Given the description of an element on the screen output the (x, y) to click on. 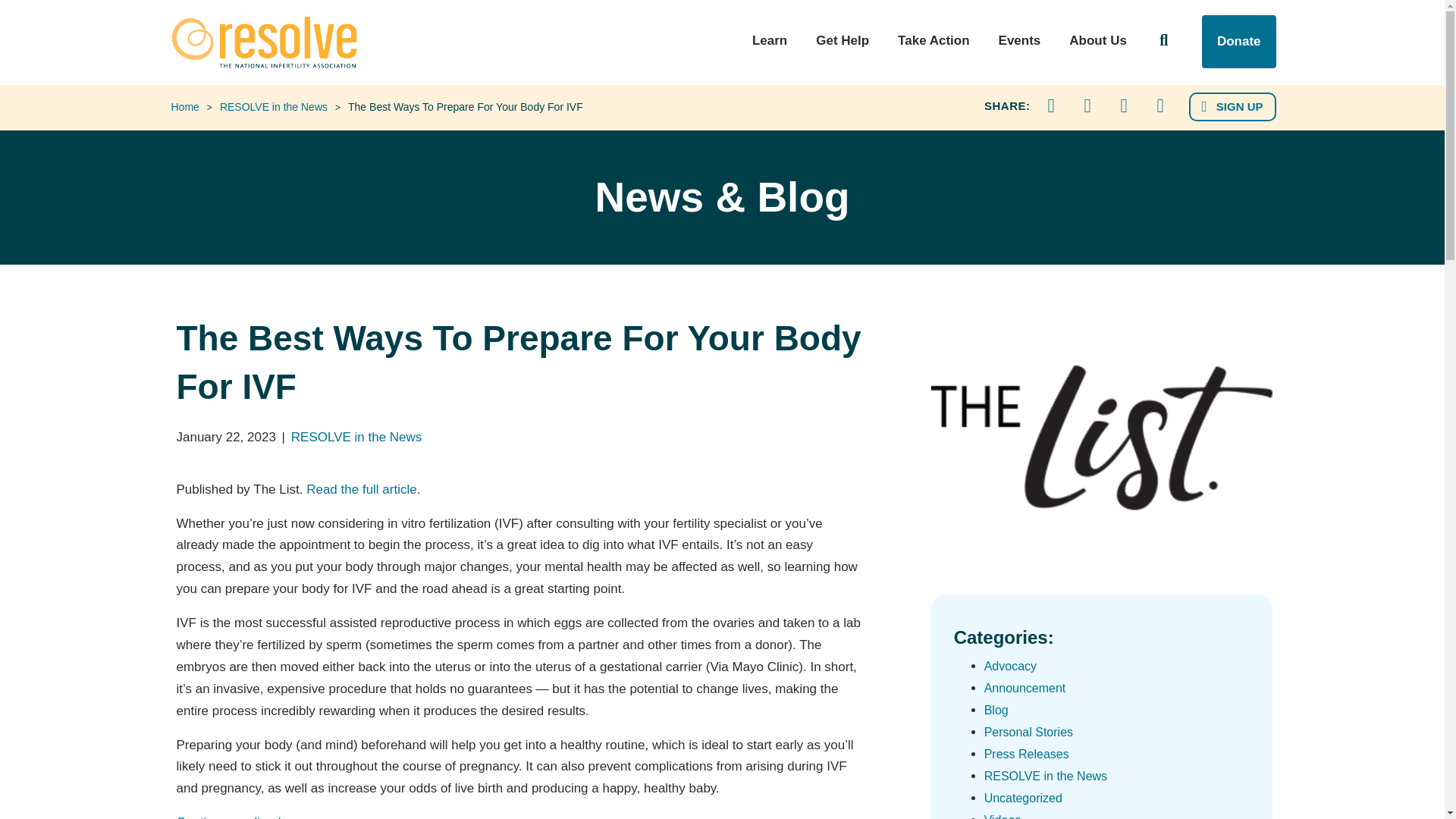
Read the full article (360, 489)
Thelist Logo 300x400 (1101, 436)
Continue reading here. (241, 816)
Donate (1239, 41)
Learn (770, 48)
